Given the description of an element on the screen output the (x, y) to click on. 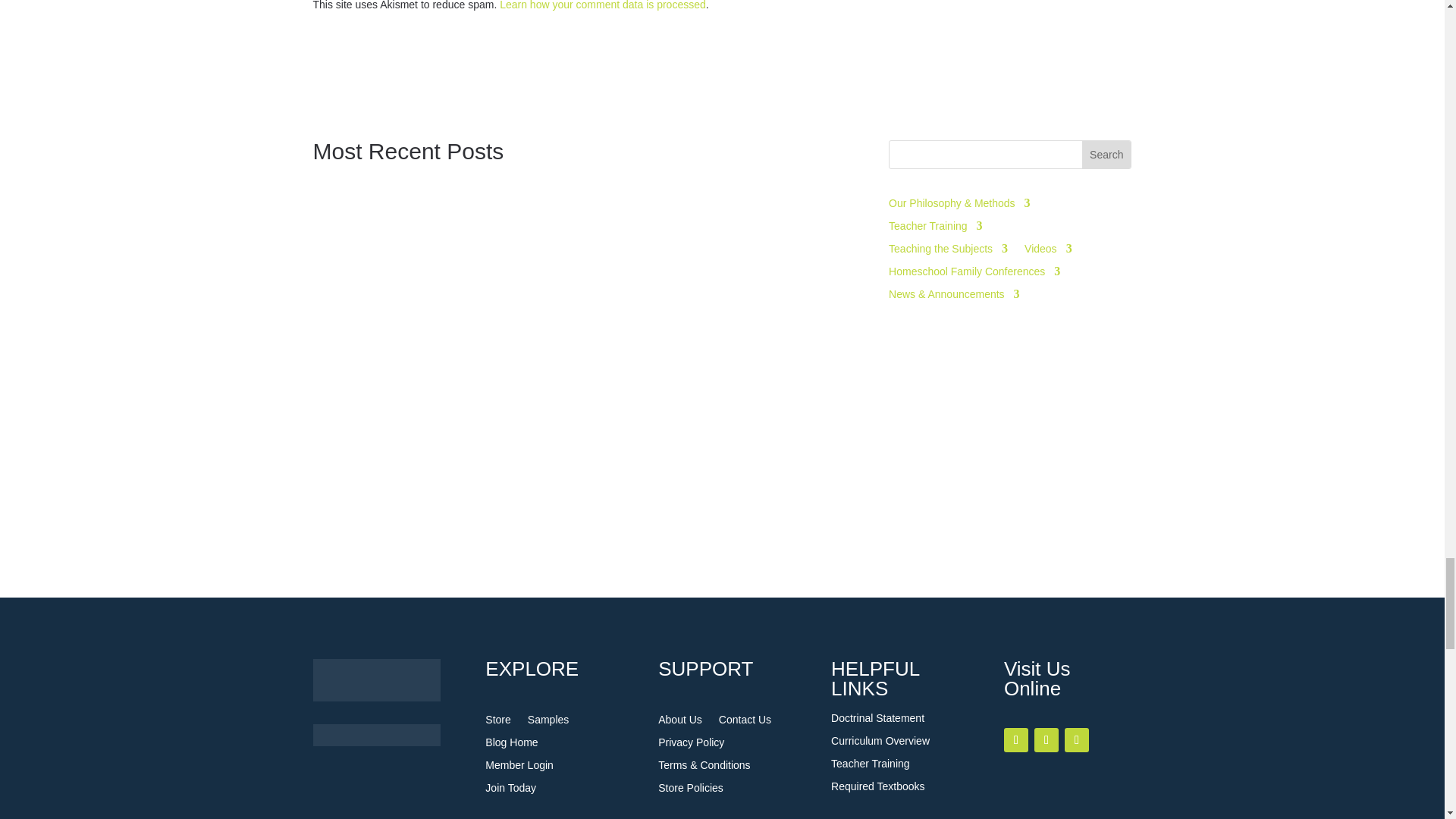
Search (1106, 154)
Follow on Youtube (1076, 740)
Follow on Facebook (1015, 740)
Search (1106, 154)
Follow on Instagram (1045, 740)
HomeschoolingTorahLogo300x100 (376, 680)
Foundations Press (376, 734)
Learn how your comment data is processed (602, 5)
